Given the description of an element on the screen output the (x, y) to click on. 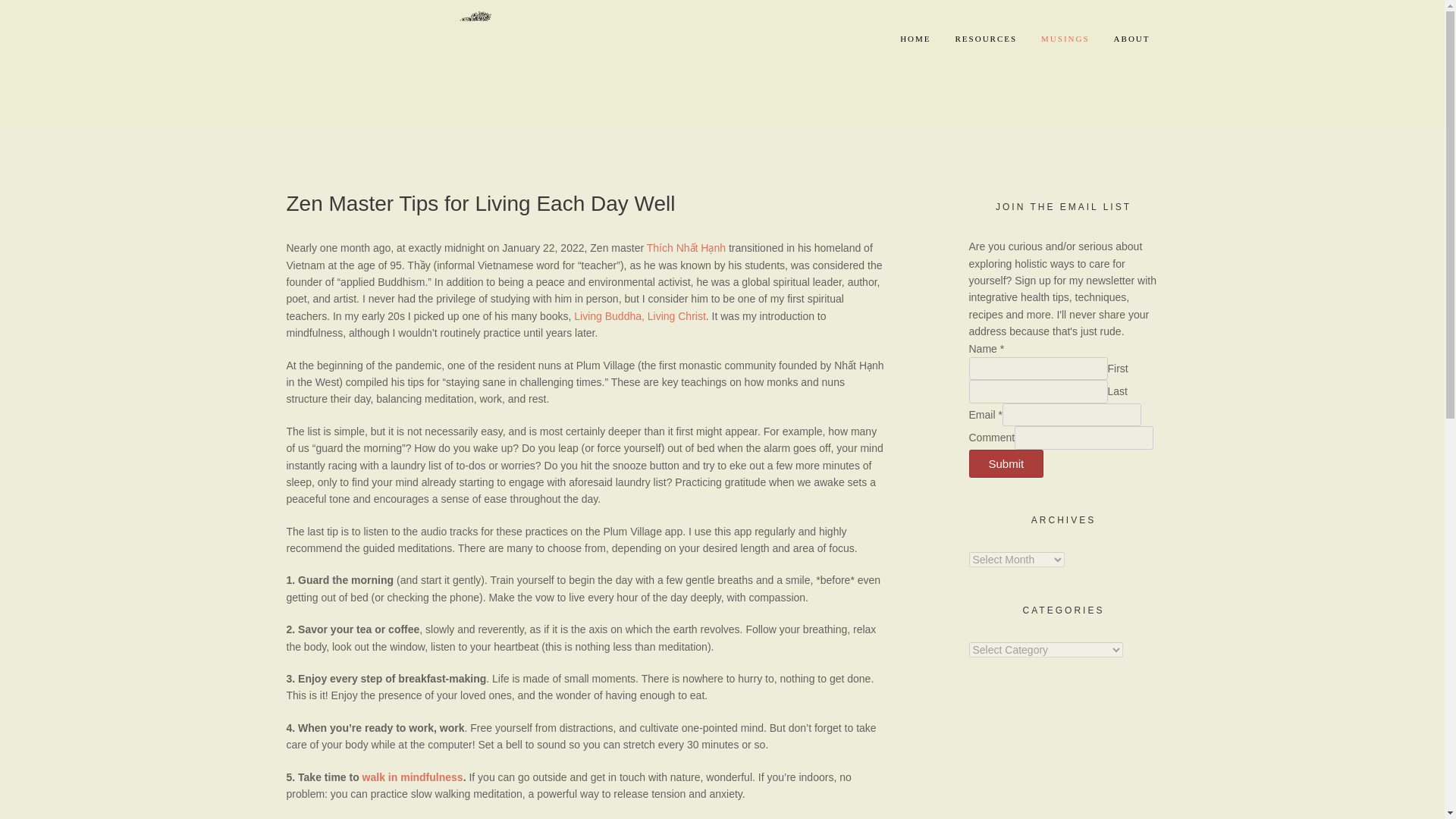
MUSINGS (1065, 40)
Living Buddha, Living Christ (639, 316)
Submit (1006, 463)
RESOURCES (986, 40)
walk in mindfulness (412, 776)
